Given the description of an element on the screen output the (x, y) to click on. 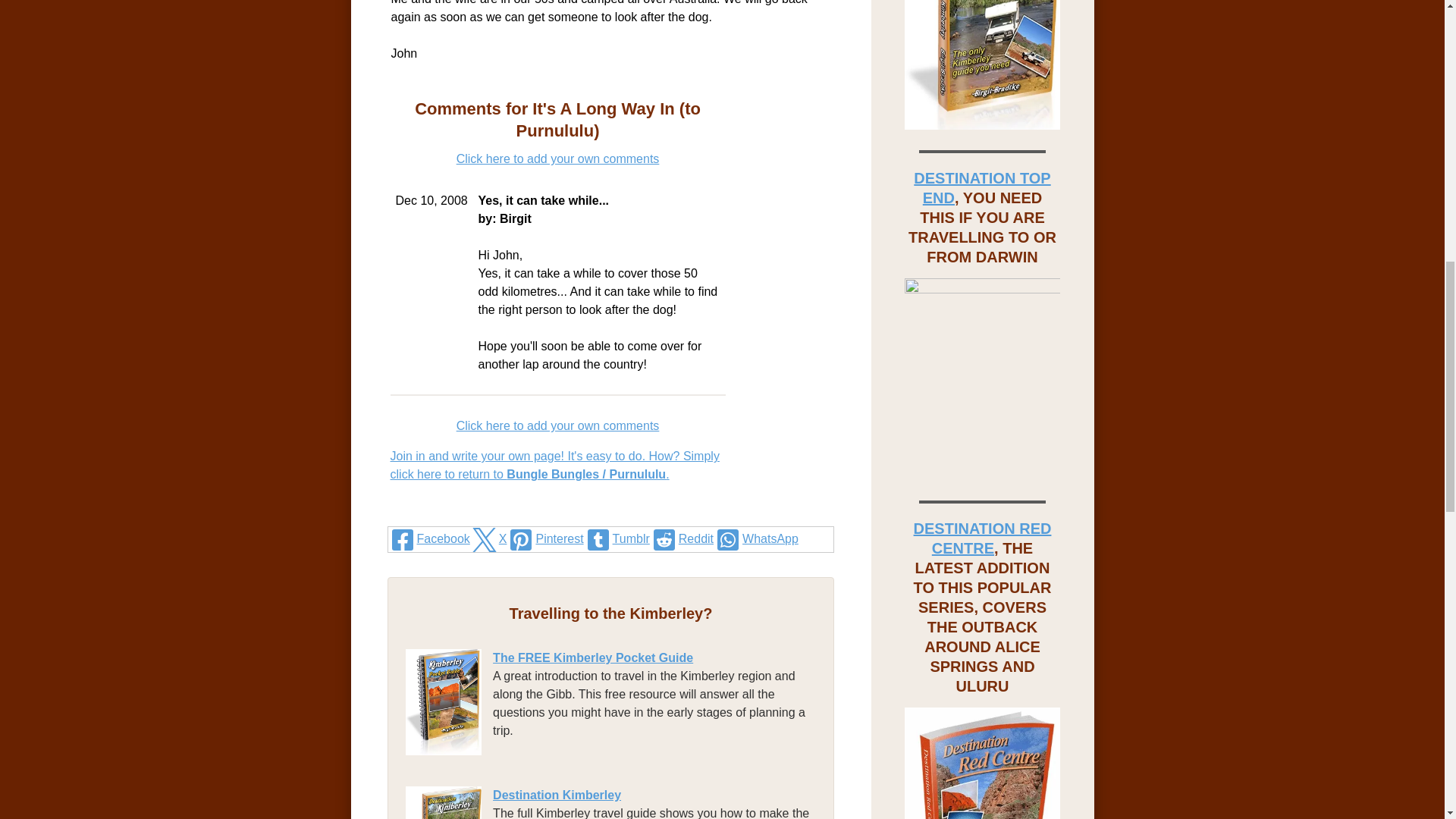
Click here to add your own comments (558, 425)
Go to FREE Kimberley Travel Guide (449, 750)
WhatsApp (755, 539)
Pinterest (544, 539)
Reddit (681, 539)
Click here to add your own comments (558, 158)
Facebook (429, 539)
X (488, 539)
Tumblr (616, 539)
